Given the description of an element on the screen output the (x, y) to click on. 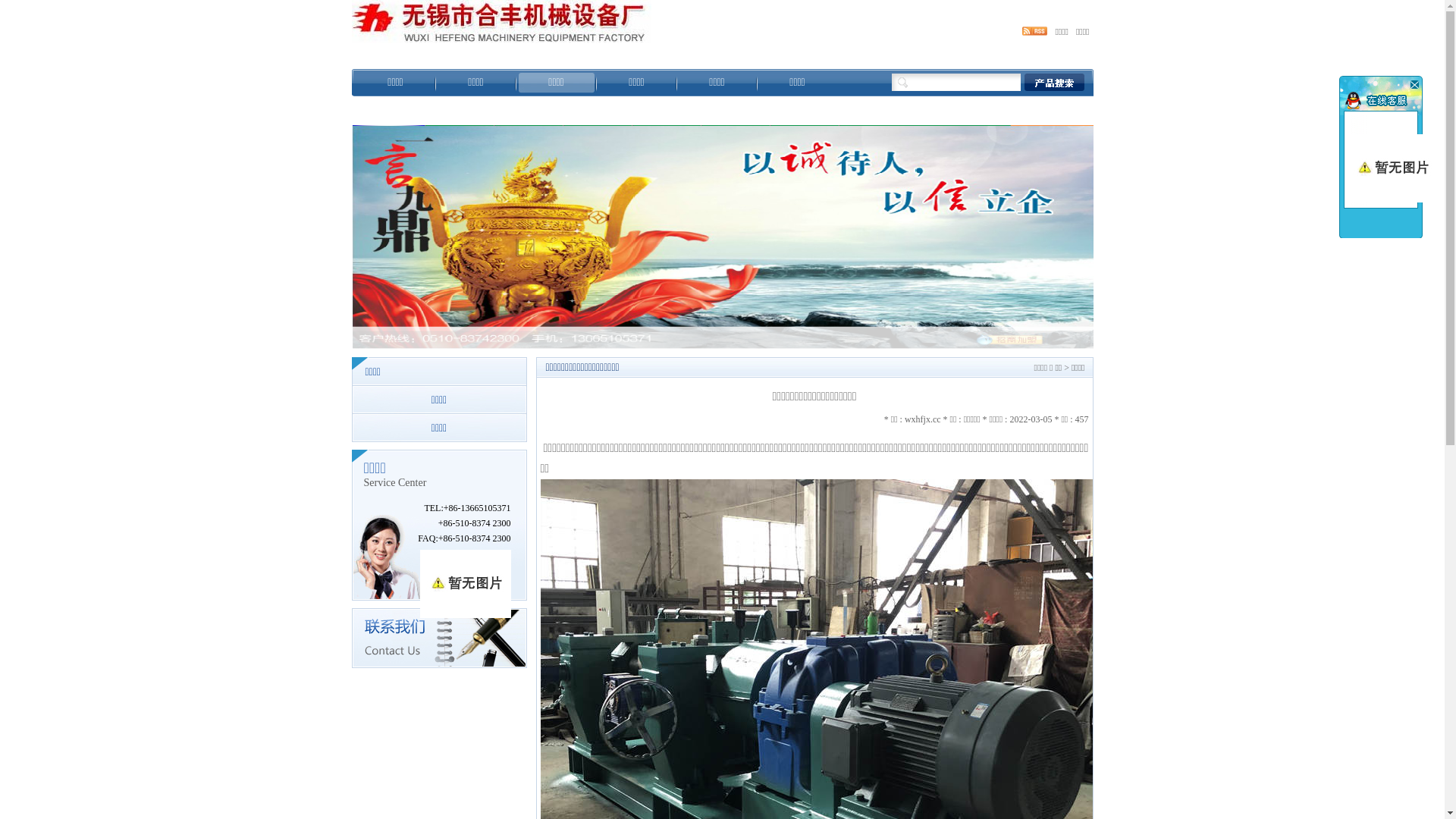
  Element type: text (1413, 84)
